Given the description of an element on the screen output the (x, y) to click on. 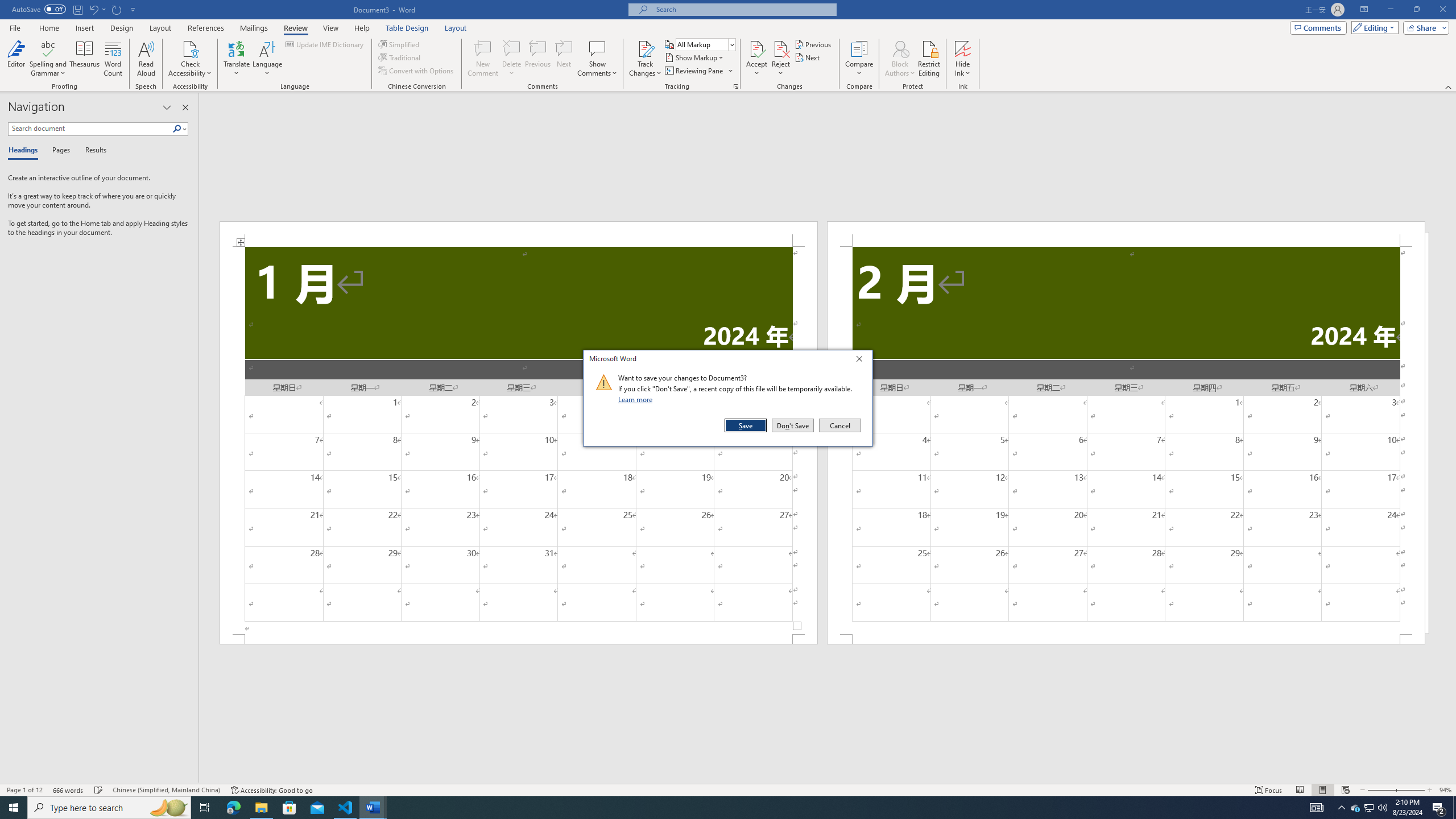
Insert (83, 28)
Help (361, 28)
Editor (16, 58)
Restore Down (1416, 9)
Spelling and Grammar (48, 48)
Save (746, 425)
Hide Ink (962, 58)
Check Accessibility (189, 48)
Close (862, 360)
Track Changes (644, 58)
Quick Access Toolbar (74, 9)
Minimize (1390, 9)
Show Comments (597, 48)
